Given the description of an element on the screen output the (x, y) to click on. 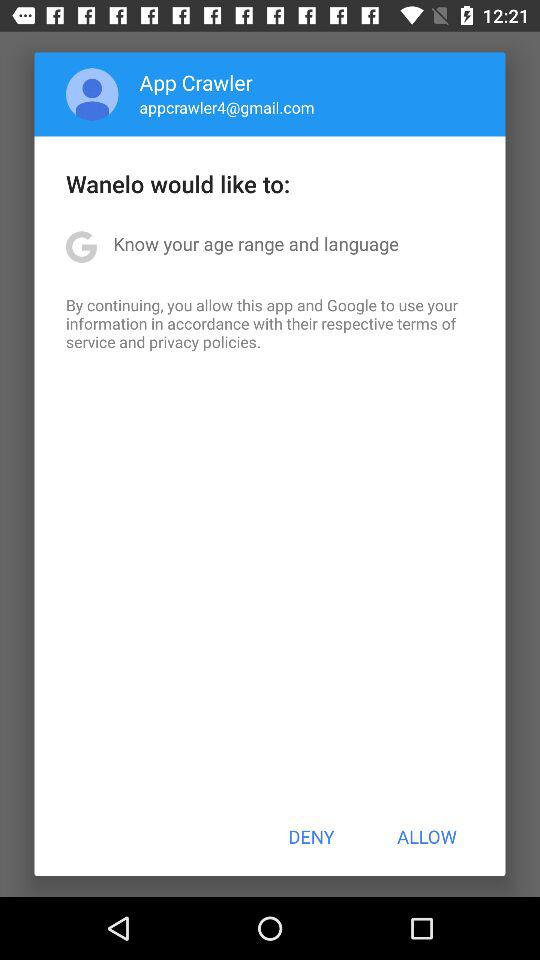
turn on the item next to the allow icon (311, 836)
